Given the description of an element on the screen output the (x, y) to click on. 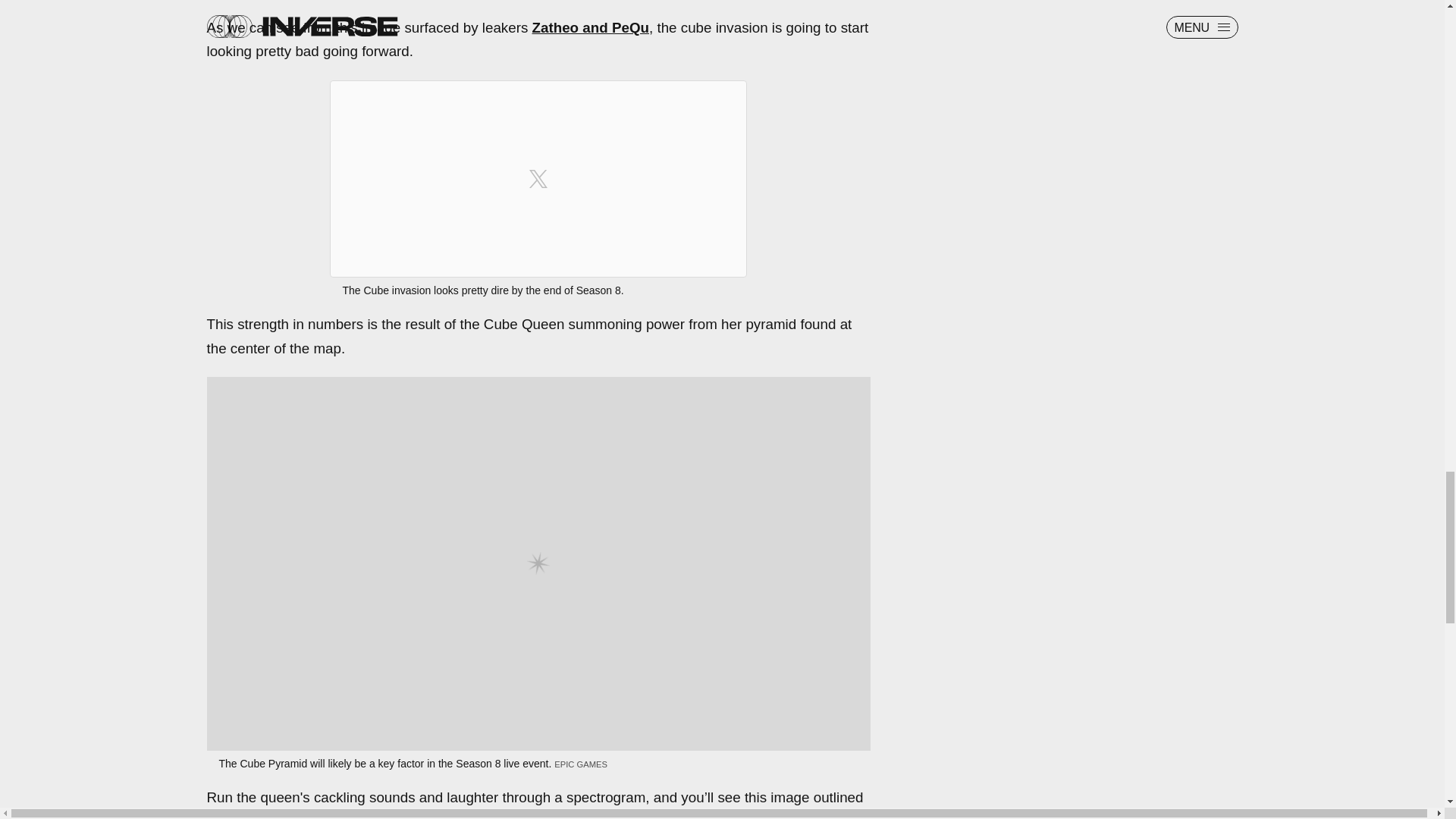
Zatheo and PeQu (590, 27)
HYPEX (250, 816)
